Given the description of an element on the screen output the (x, y) to click on. 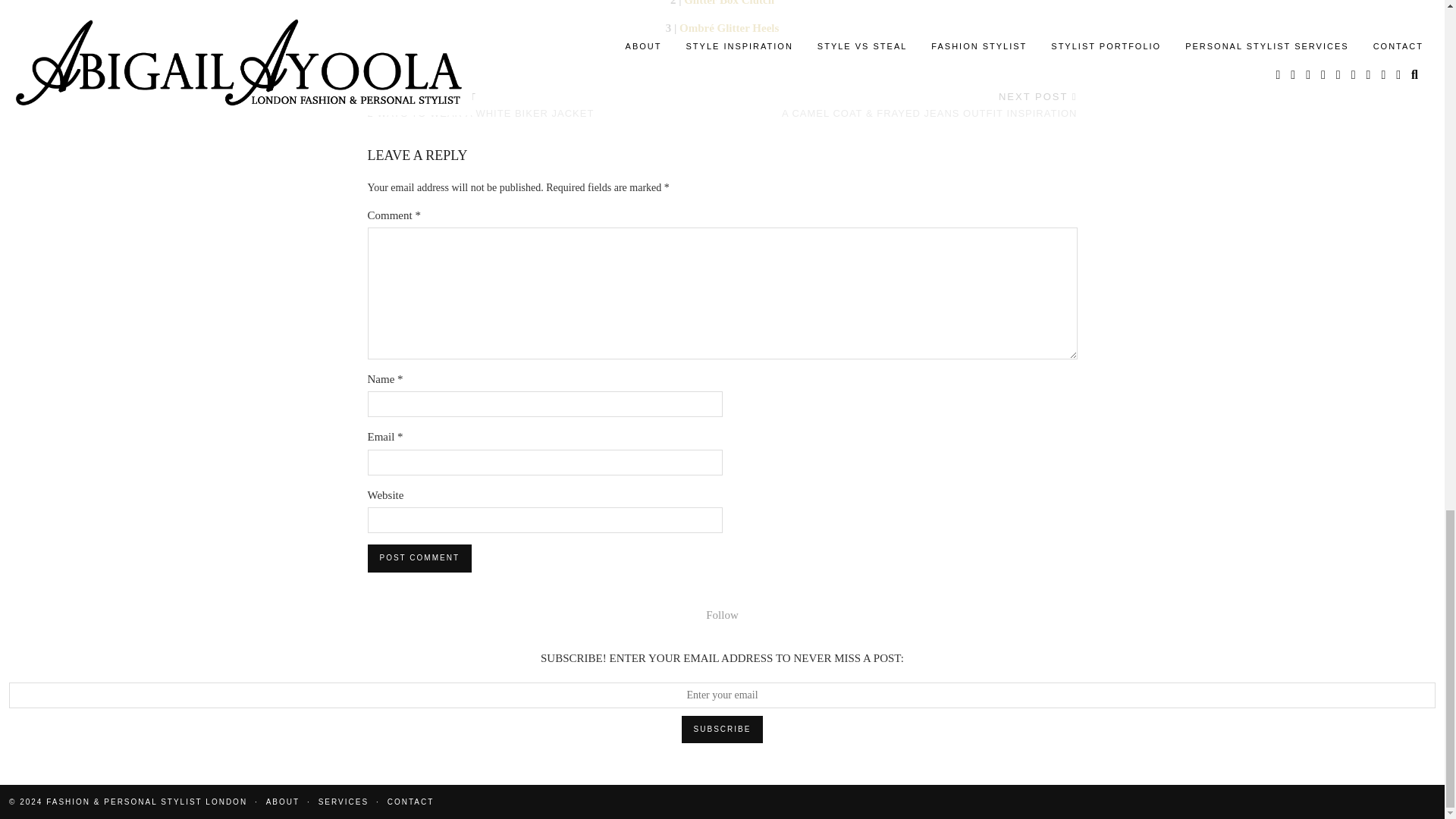
Subscribe (721, 728)
Post Comment (418, 557)
